Given the description of an element on the screen output the (x, y) to click on. 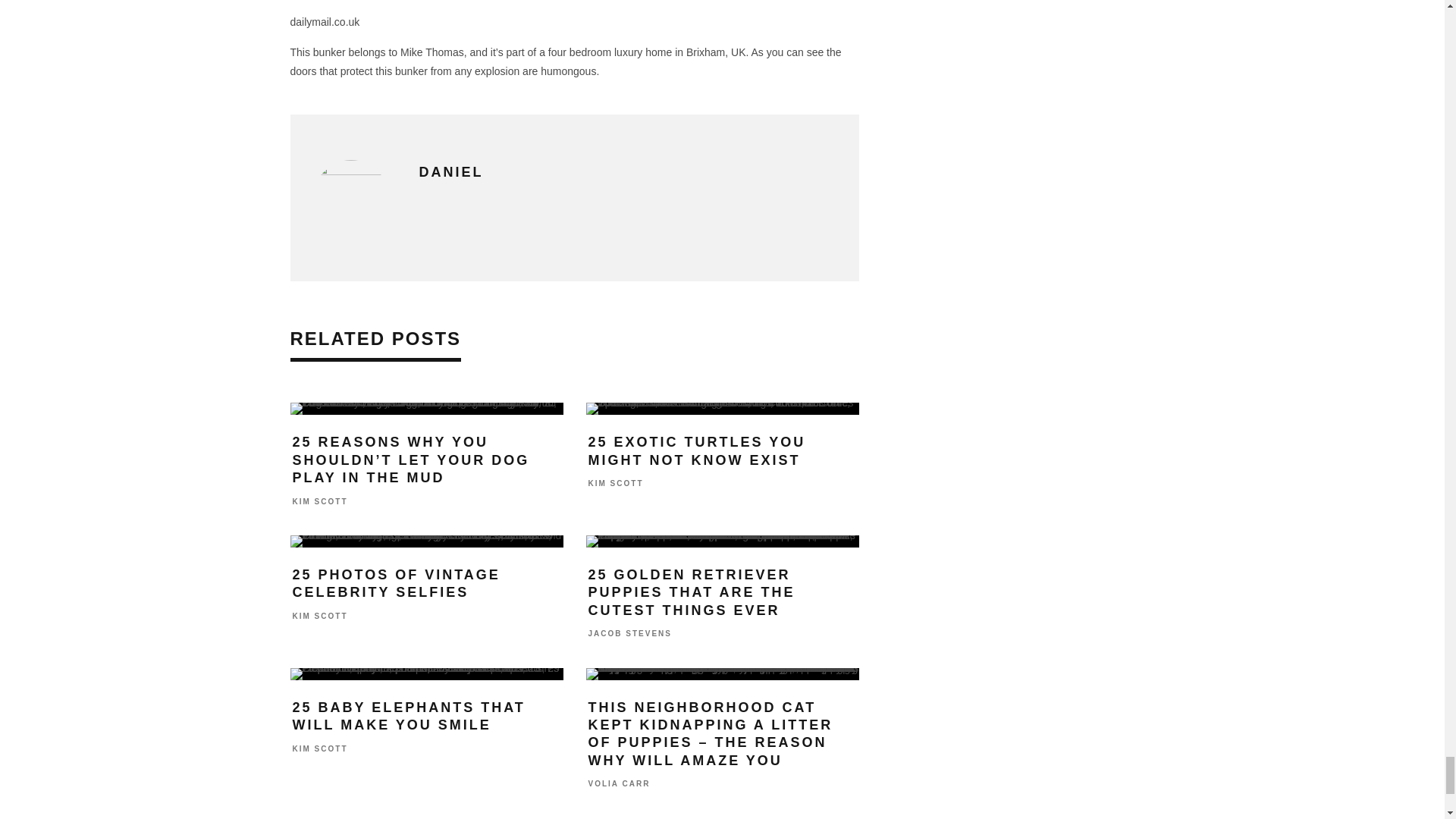
25 GOLDEN RETRIEVER PUPPIES THAT ARE THE CUTEST THINGS EVER (691, 592)
KIM SCOTT (319, 748)
25 EXOTIC TURTLES YOU MIGHT NOT KNOW EXIST (697, 450)
VOLIA CARR (619, 784)
KIM SCOTT (319, 501)
DANIEL (451, 171)
25 PHOTOS OF VINTAGE CELEBRITY SELFIES (396, 583)
